Given the description of an element on the screen output the (x, y) to click on. 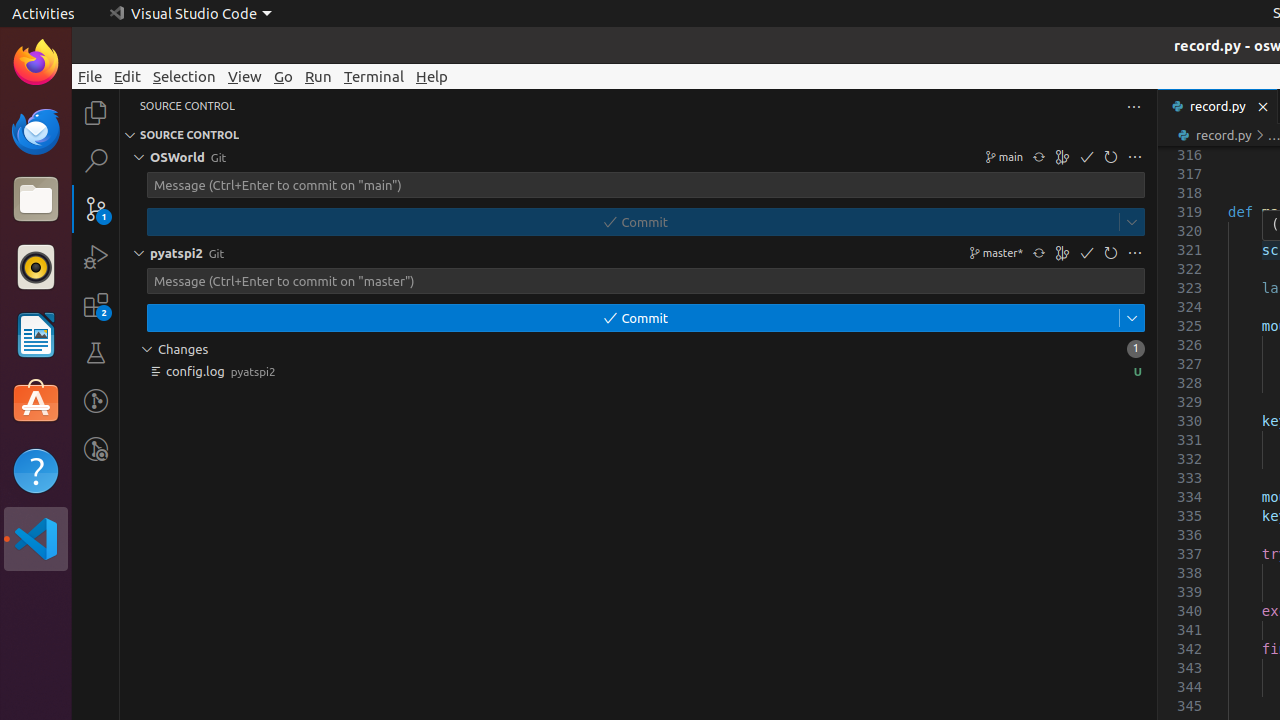
Source Control Input Element type: tree-item (638, 281)
Firefox Web Browser Element type: push-button (36, 63)
File Element type: push-button (90, 76)
Search (Ctrl+Shift+F) Element type: page-tab (96, 160)
